Given the description of an element on the screen output the (x, y) to click on. 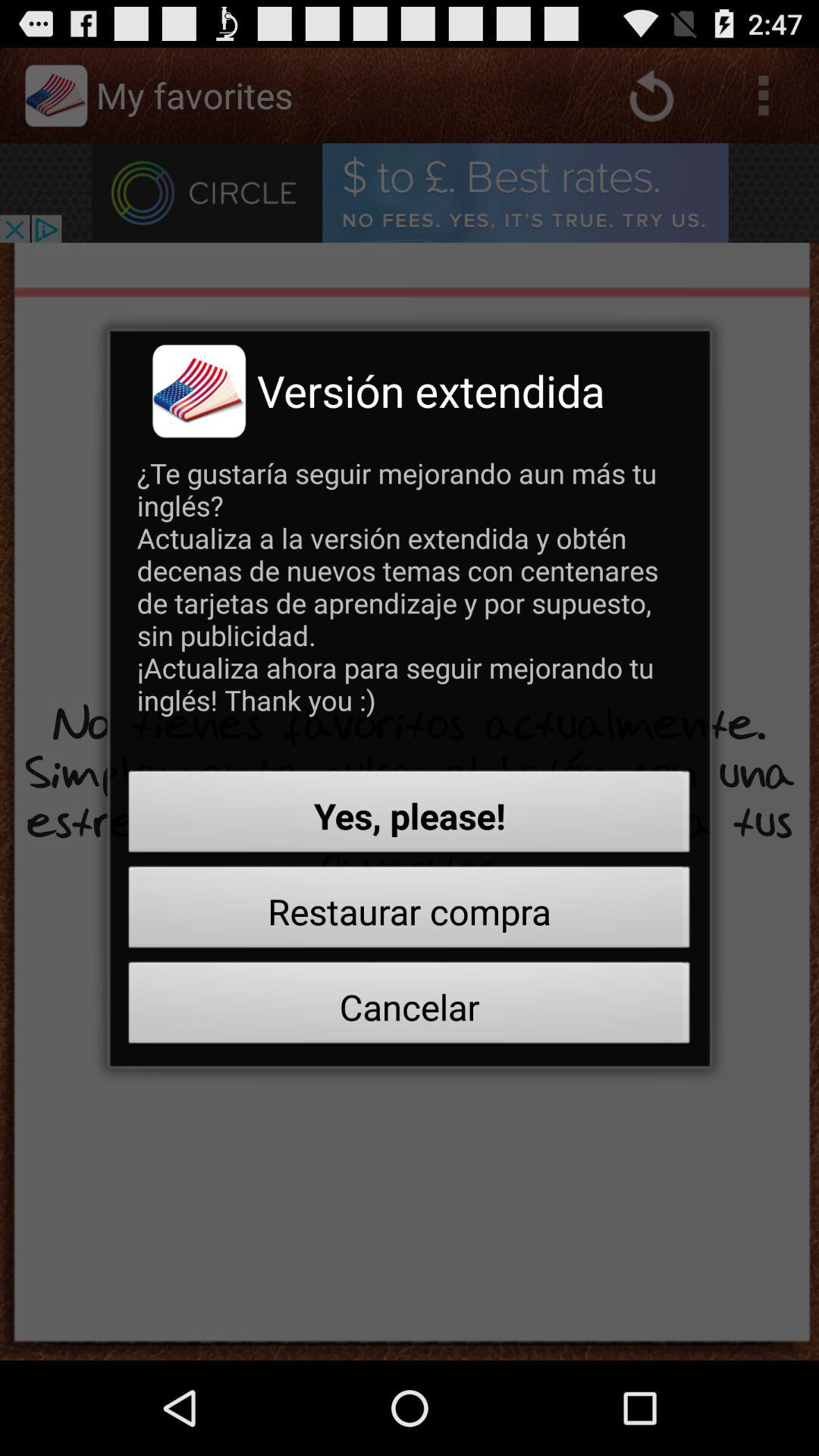
select the item below the restaurar compra (409, 1007)
